Given the description of an element on the screen output the (x, y) to click on. 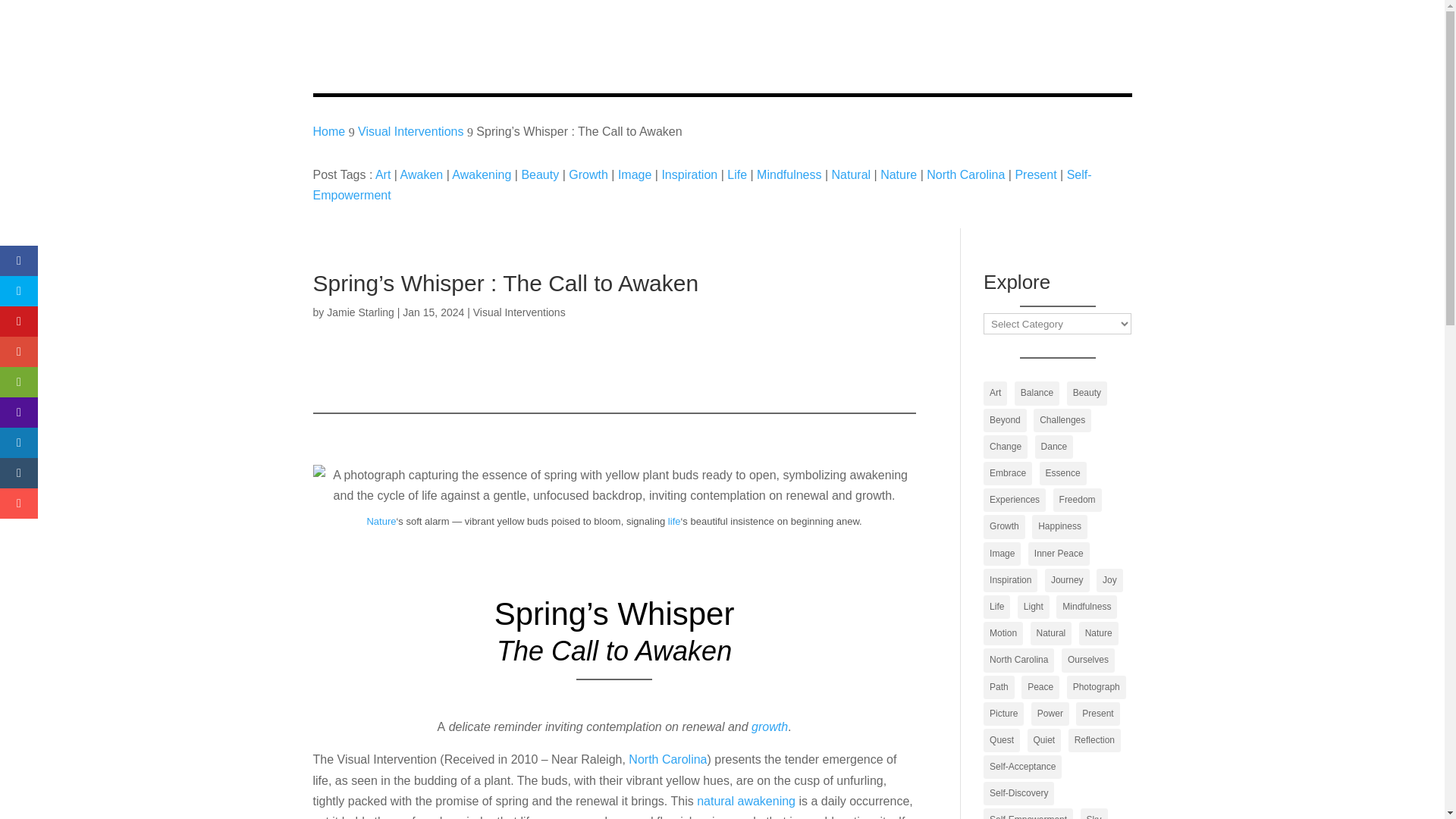
Awakening (481, 174)
natural (715, 800)
Posts tagged with Growth (769, 726)
Challenges (1061, 420)
Image (633, 174)
Posts tagged with Nature (381, 521)
Art (995, 392)
Posts tagged with North Carolina (667, 758)
Art (382, 174)
Inspiration (689, 174)
